Given the description of an element on the screen output the (x, y) to click on. 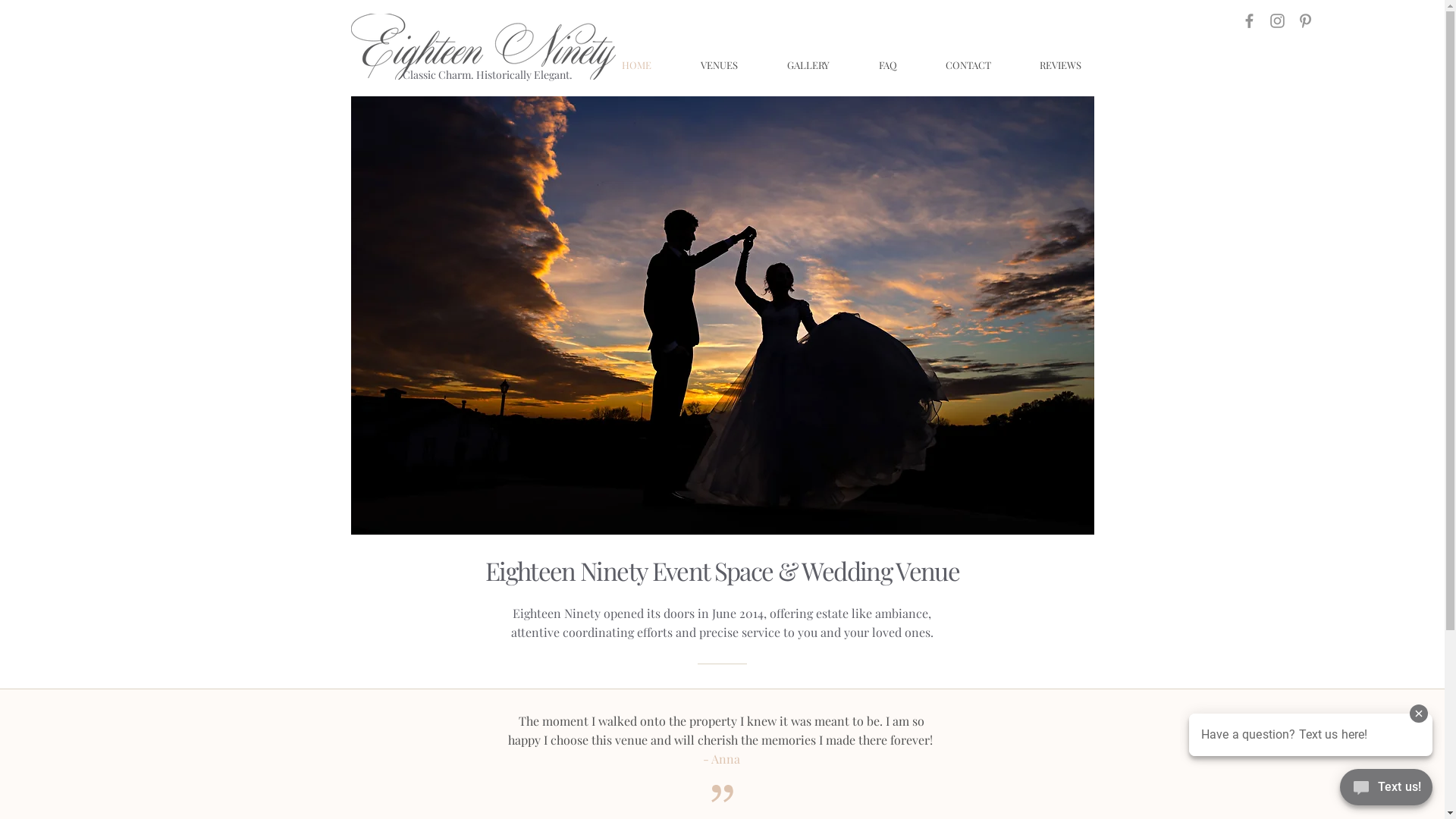
VENUES Element type: text (719, 64)
CONTACT Element type: text (967, 64)
HOME Element type: text (636, 64)
GALLERY Element type: text (808, 64)
FAQ Element type: text (886, 64)
REVIEWS Element type: text (1059, 64)
